Given the description of an element on the screen output the (x, y) to click on. 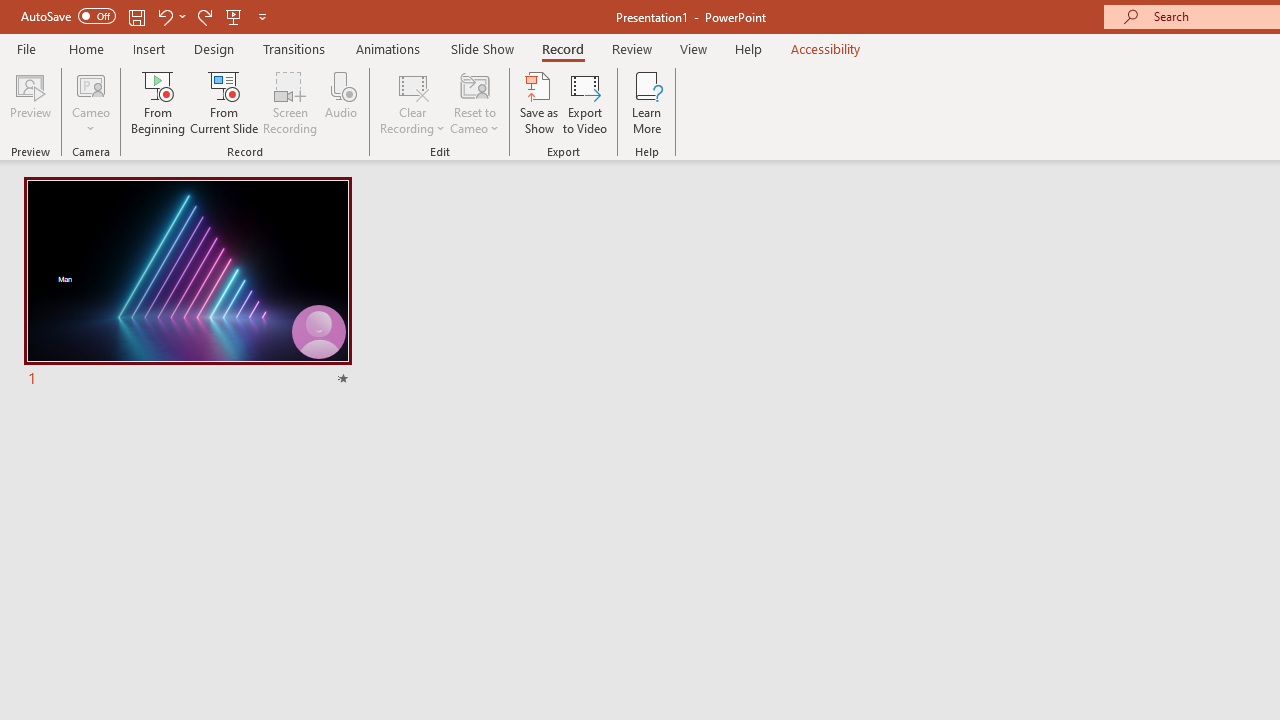
Cameo (91, 102)
Reset to Cameo (474, 102)
Clear Recording (412, 102)
Cameo (91, 84)
Preview (30, 102)
